Given the description of an element on the screen output the (x, y) to click on. 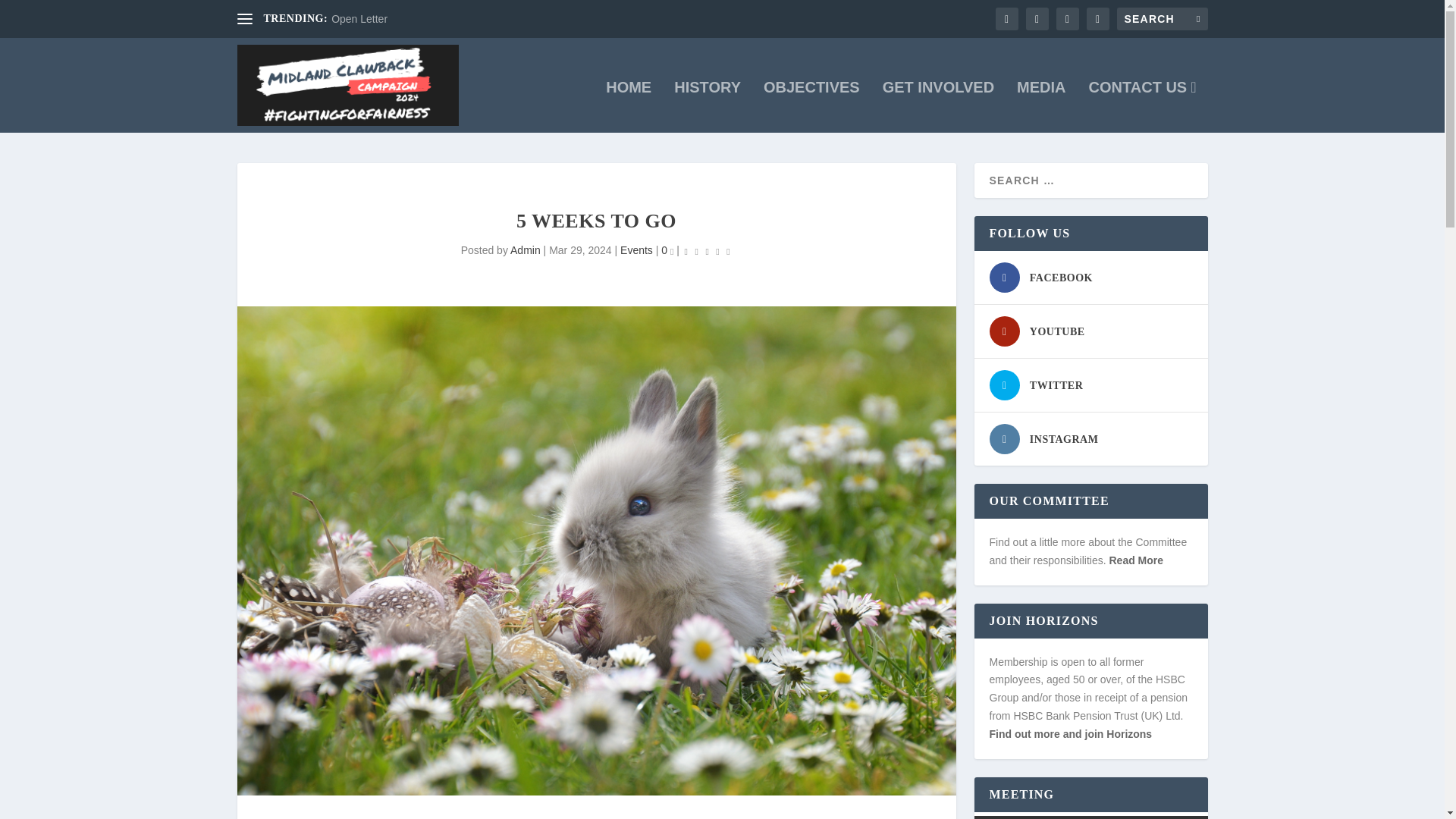
MEDIA (1040, 106)
0 (666, 250)
Search for: (1161, 18)
Admin (525, 250)
Posts by Admin (525, 250)
Rating: 0.00 (707, 251)
HISTORY (707, 106)
Open Letter (359, 19)
OBJECTIVES (811, 106)
CONTACT US (1142, 106)
